Given the description of an element on the screen output the (x, y) to click on. 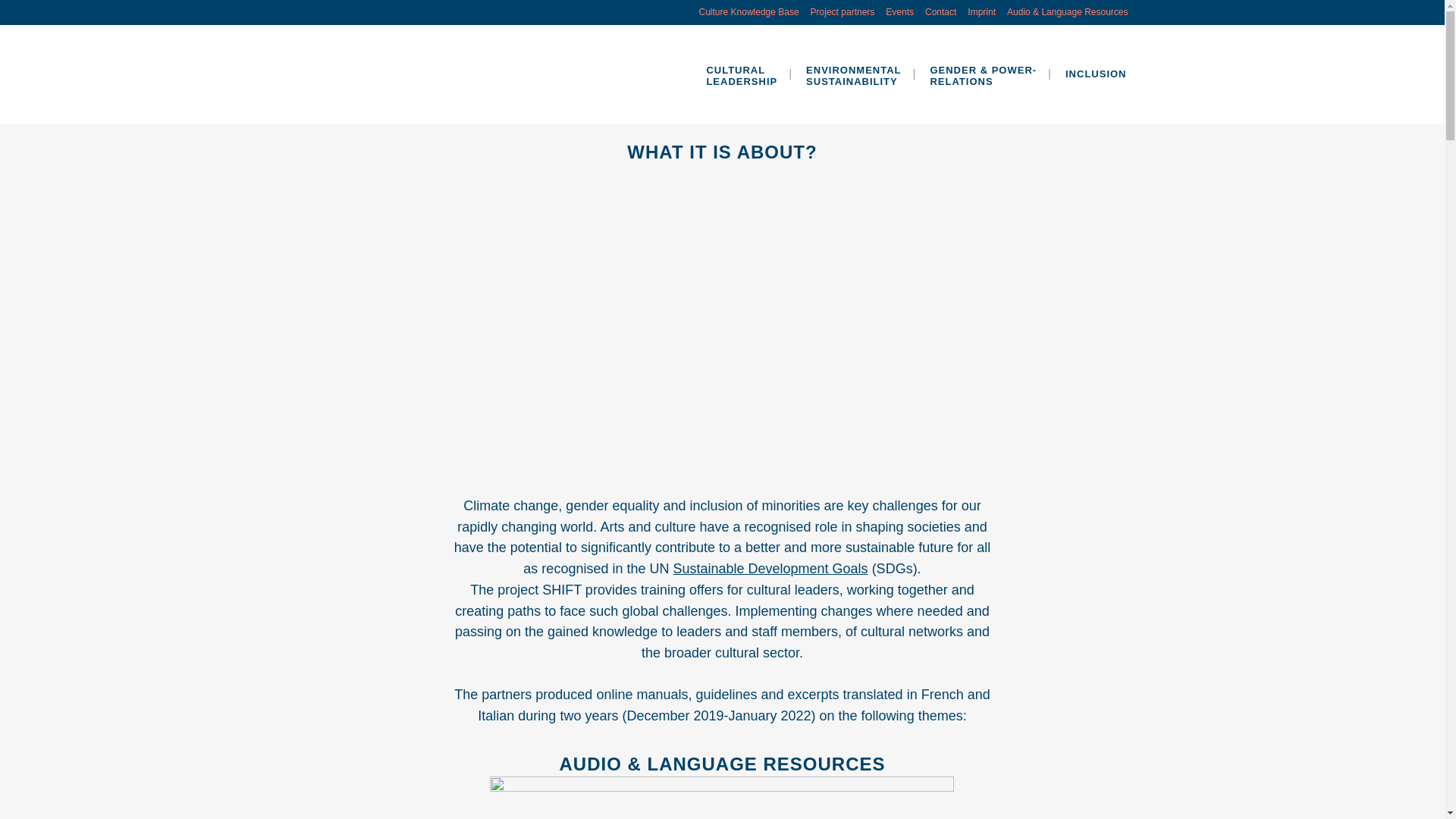
Contact (935, 12)
headphones on books, audiobooks concept (721, 797)
Imprint (853, 74)
Events (975, 12)
Project partners (894, 12)
SHIFT - Shared Initiatives for Training Presentation (837, 12)
